Given the description of an element on the screen output the (x, y) to click on. 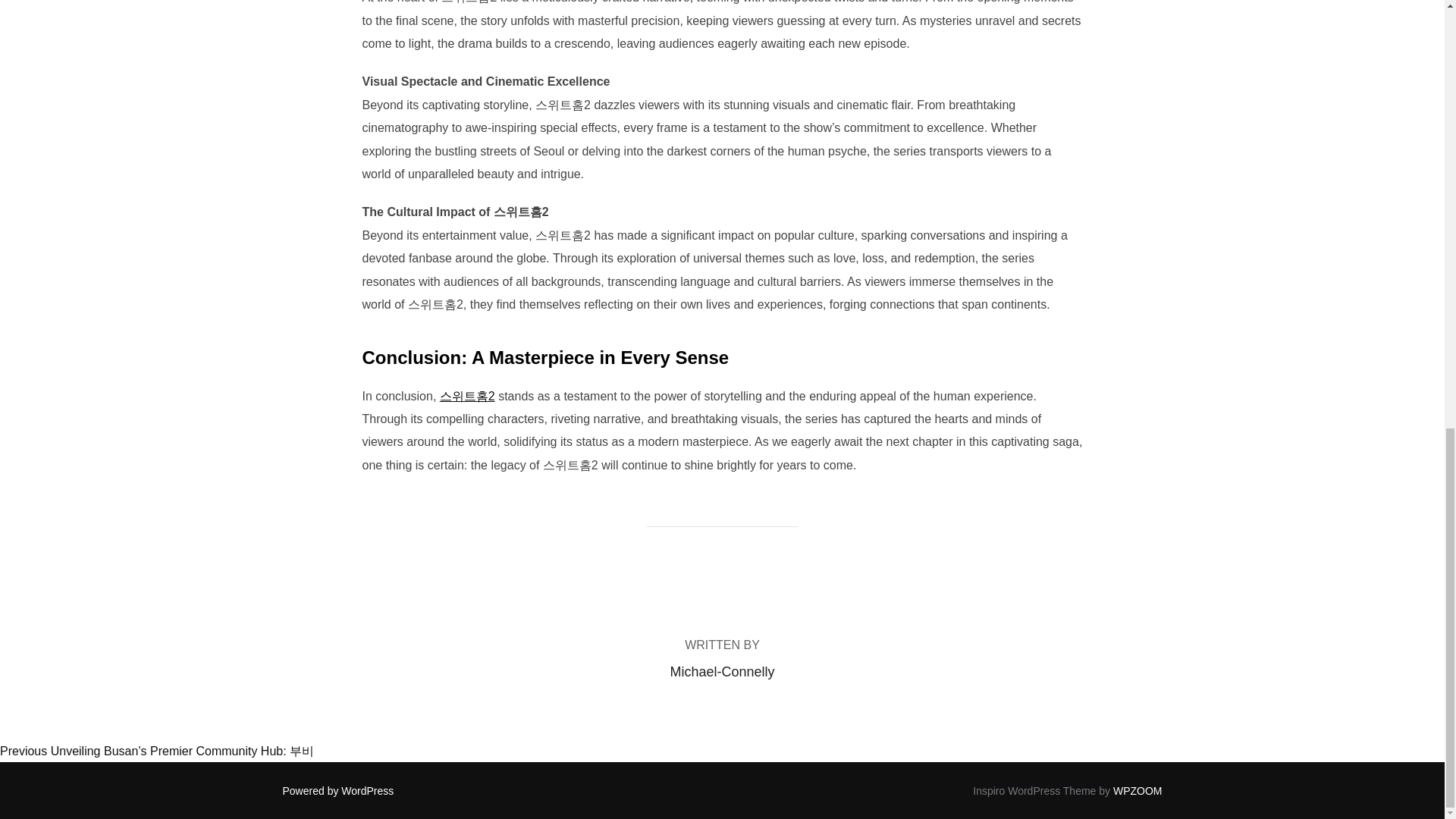
Michael-Connelly (721, 671)
Posts by Michael-Connelly (721, 671)
WPZOOM (1137, 790)
Powered by WordPress (337, 790)
